Given the description of an element on the screen output the (x, y) to click on. 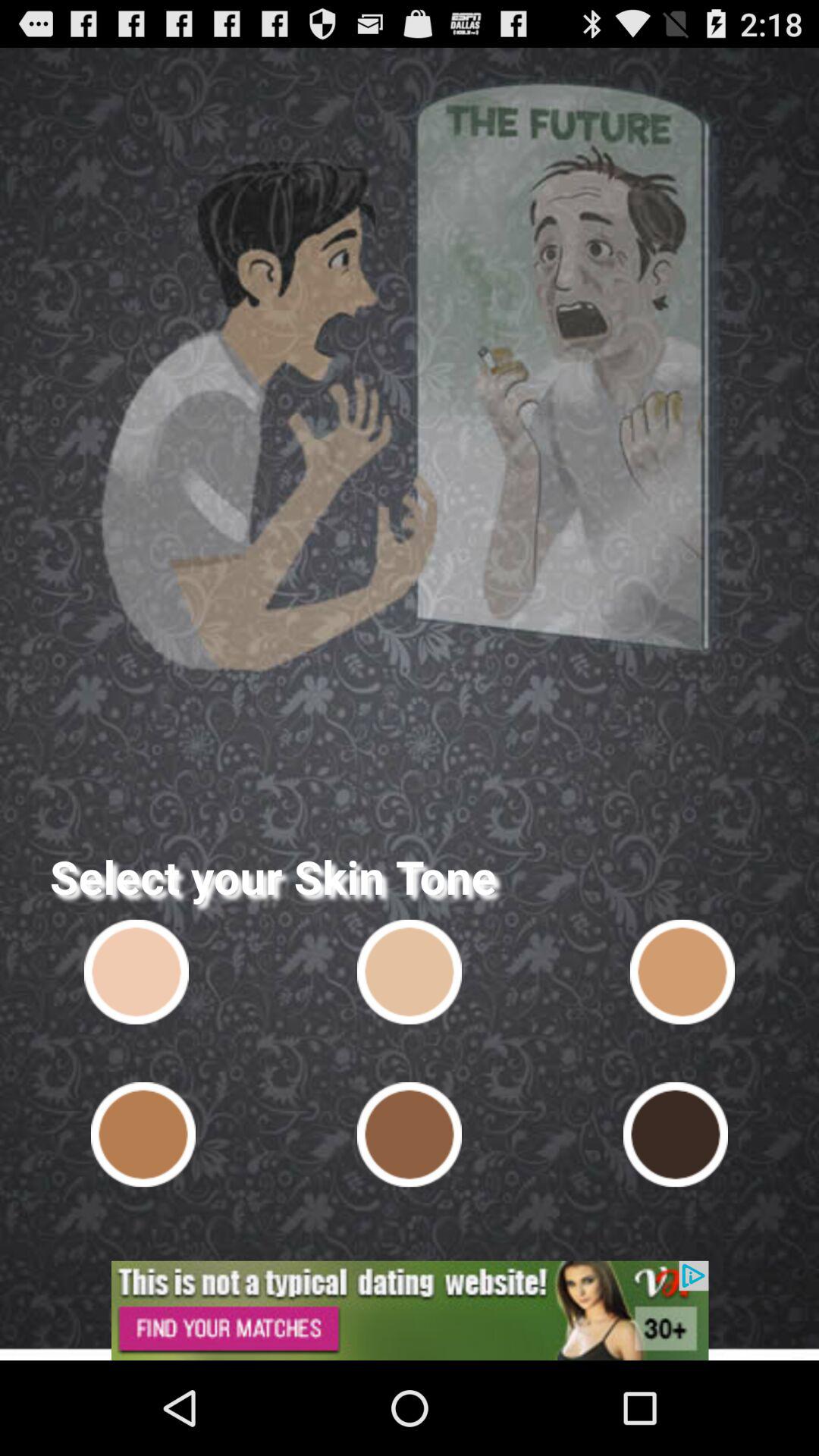
select skin tone (682, 971)
